Given the description of an element on the screen output the (x, y) to click on. 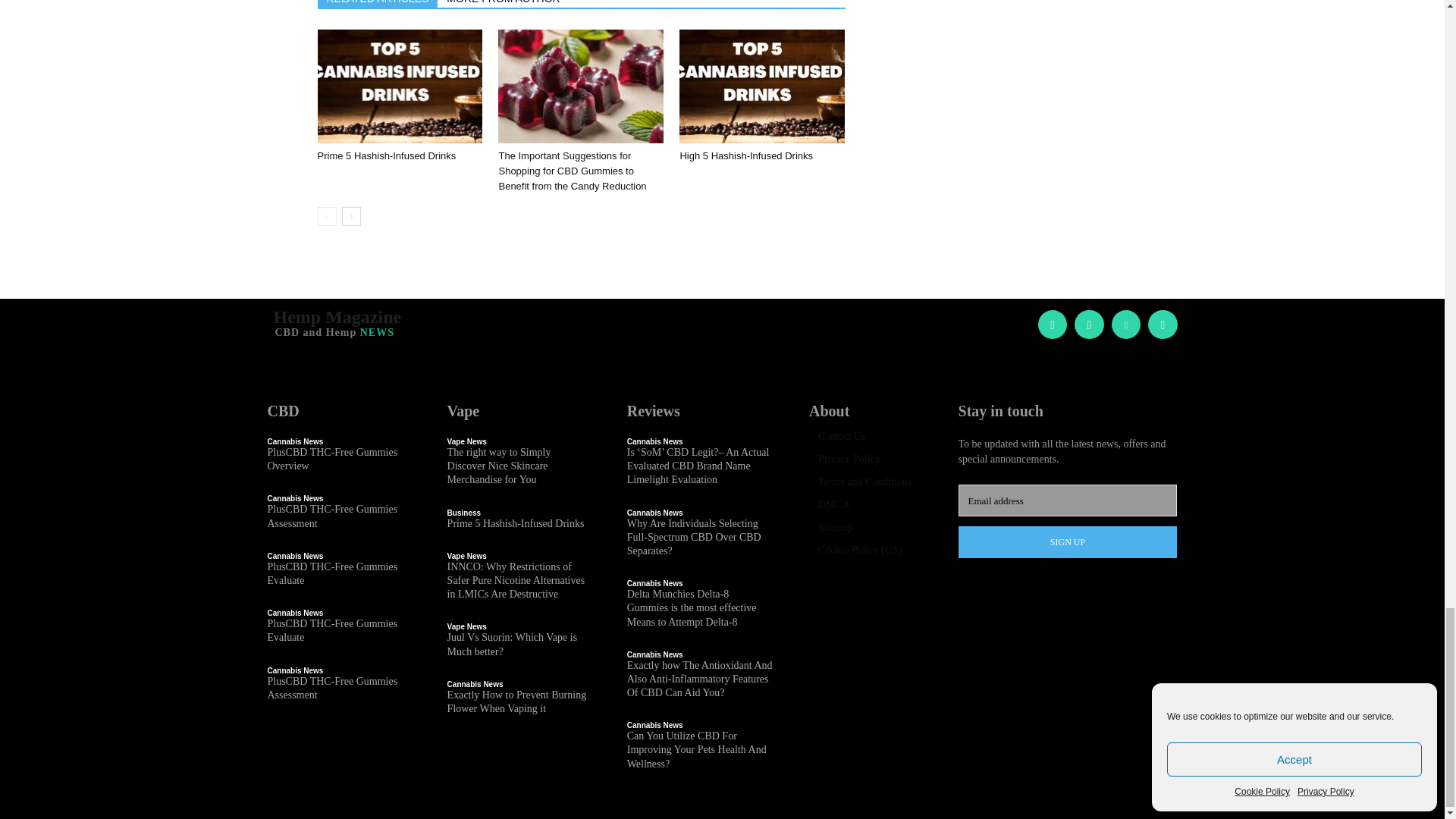
Prime 5 Hashish-Infused Drinks (386, 155)
Prime 5 Hashish-Infused Drinks (399, 86)
High 5 Hashish-Infused Drinks (761, 86)
High 5 Hashish-Infused Drinks (745, 155)
